Given the description of an element on the screen output the (x, y) to click on. 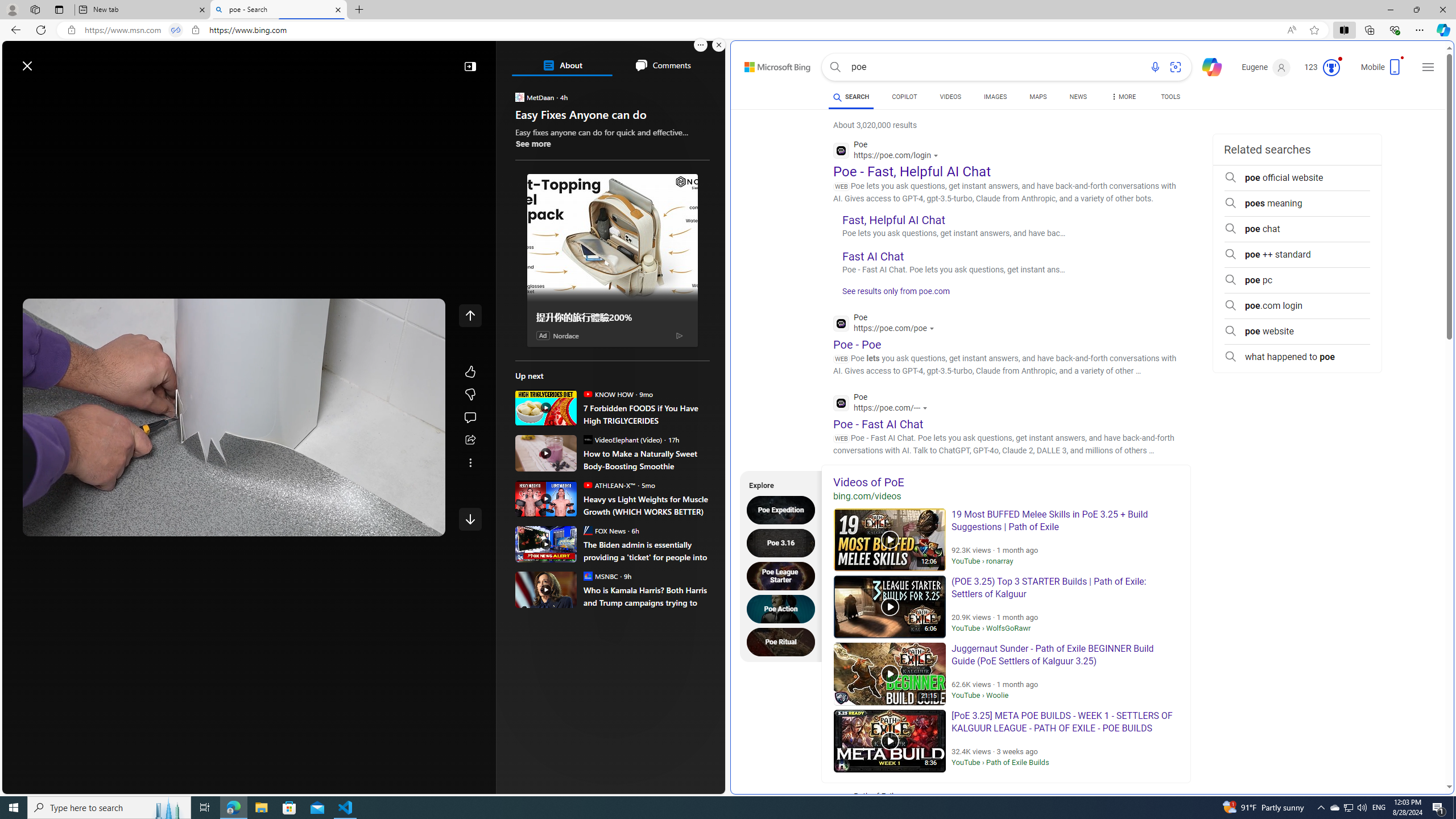
MAPS (1038, 96)
Fast, Helpful AI Chat (893, 219)
AutomationID: mfa_root (1406, 752)
Class: medal-circled (1331, 67)
More like thisFewer like thisStart the conversation (469, 394)
Poe Ritual (783, 641)
Poe - Fast AI Chat (877, 423)
